Given the description of an element on the screen output the (x, y) to click on. 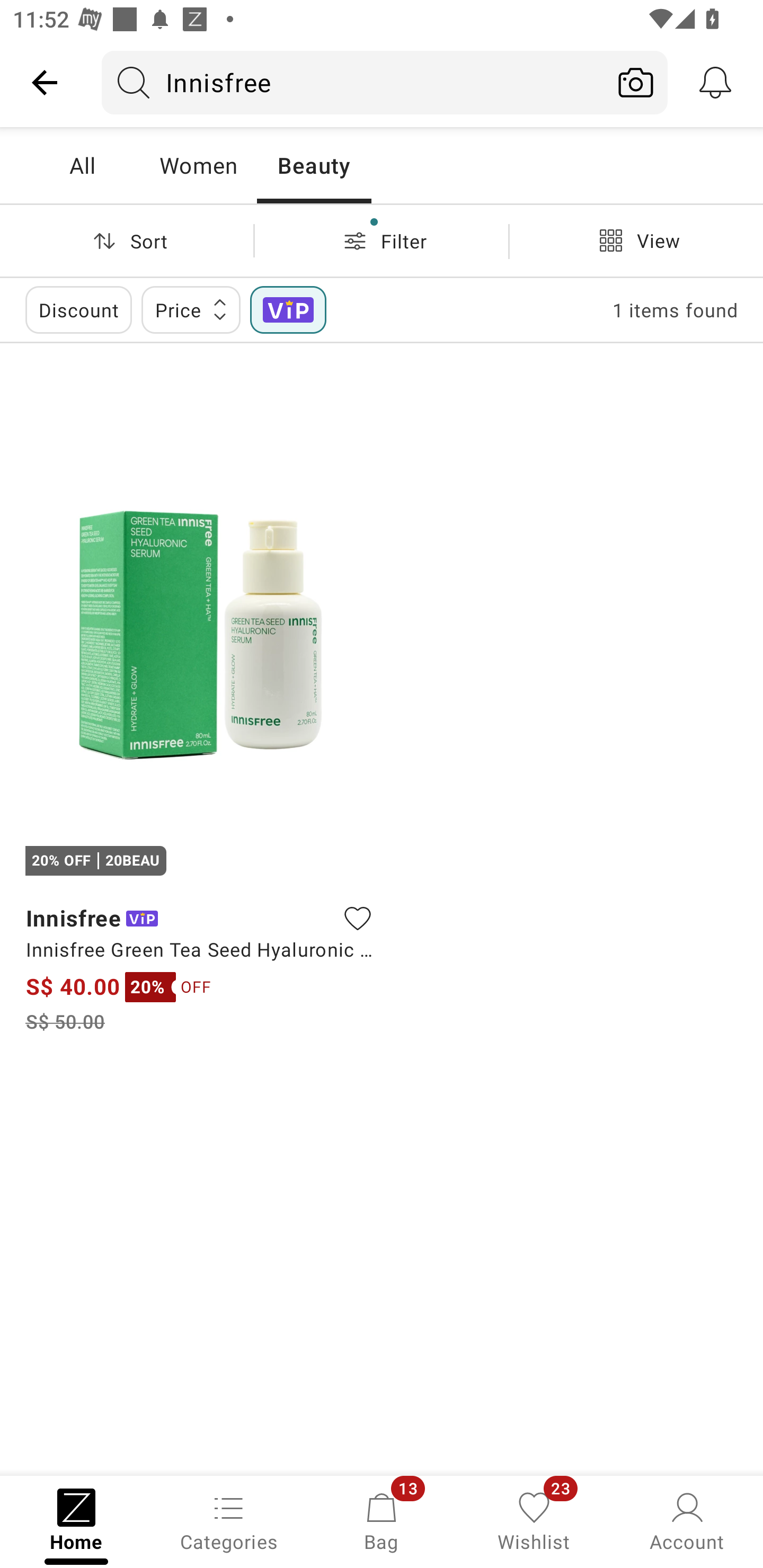
Navigate up (44, 82)
Innisfree (352, 82)
All (82, 165)
Women (198, 165)
Sort (126, 240)
Filter (381, 240)
View (636, 240)
Discount (78, 309)
Price (190, 309)
Categories (228, 1519)
Bag, 13 new notifications Bag (381, 1519)
Wishlist, 23 new notifications Wishlist (533, 1519)
Account (686, 1519)
